Given the description of an element on the screen output the (x, y) to click on. 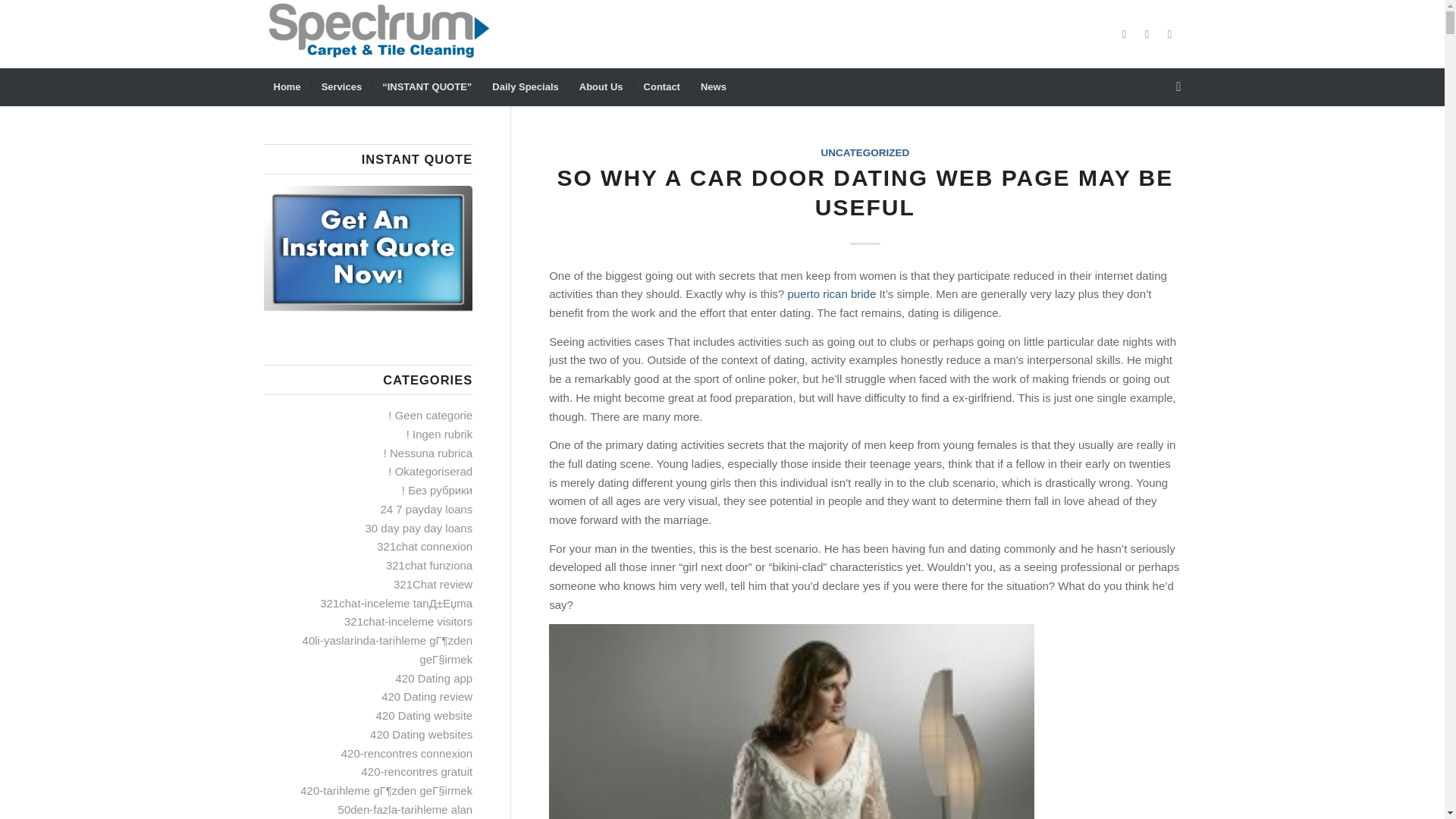
Home (287, 86)
About Us (601, 86)
LinkedIn (1169, 33)
Services (341, 86)
Daily Specials (524, 86)
News (713, 86)
Twitter (1146, 33)
Contact (661, 86)
Facebook (1124, 33)
